Given the description of an element on the screen output the (x, y) to click on. 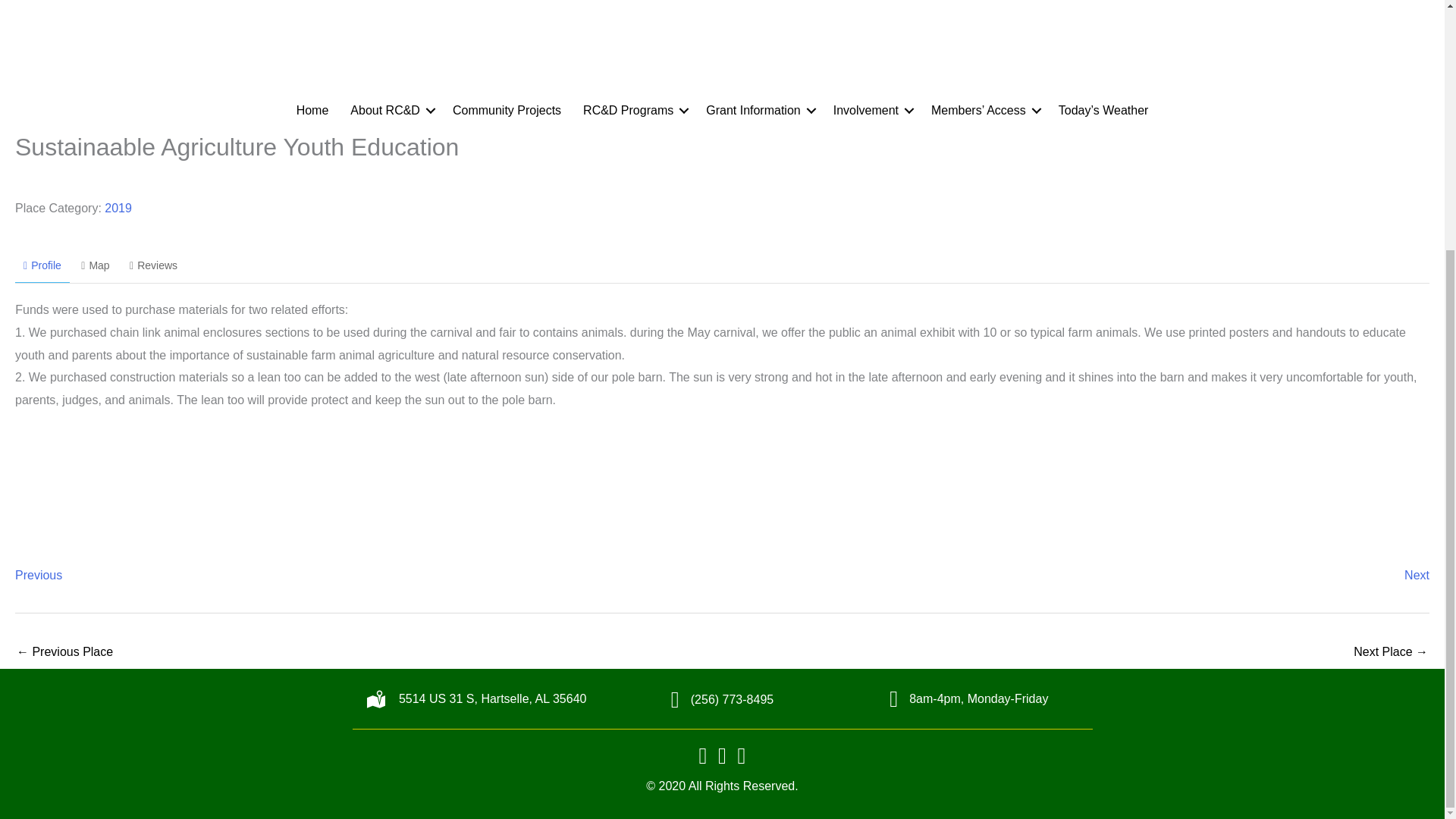
Grant Information (758, 110)
2019 (118, 207)
Map (94, 265)
Profile (41, 266)
Next (1417, 574)
Scottsboro Jackson County Rescue Squad Emergency Generator (64, 653)
Wheelchair ramps (1391, 653)
Community Projects (507, 110)
Previous (38, 574)
Involvement (871, 110)
Reviews (153, 265)
Home (312, 110)
